Given the description of an element on the screen output the (x, y) to click on. 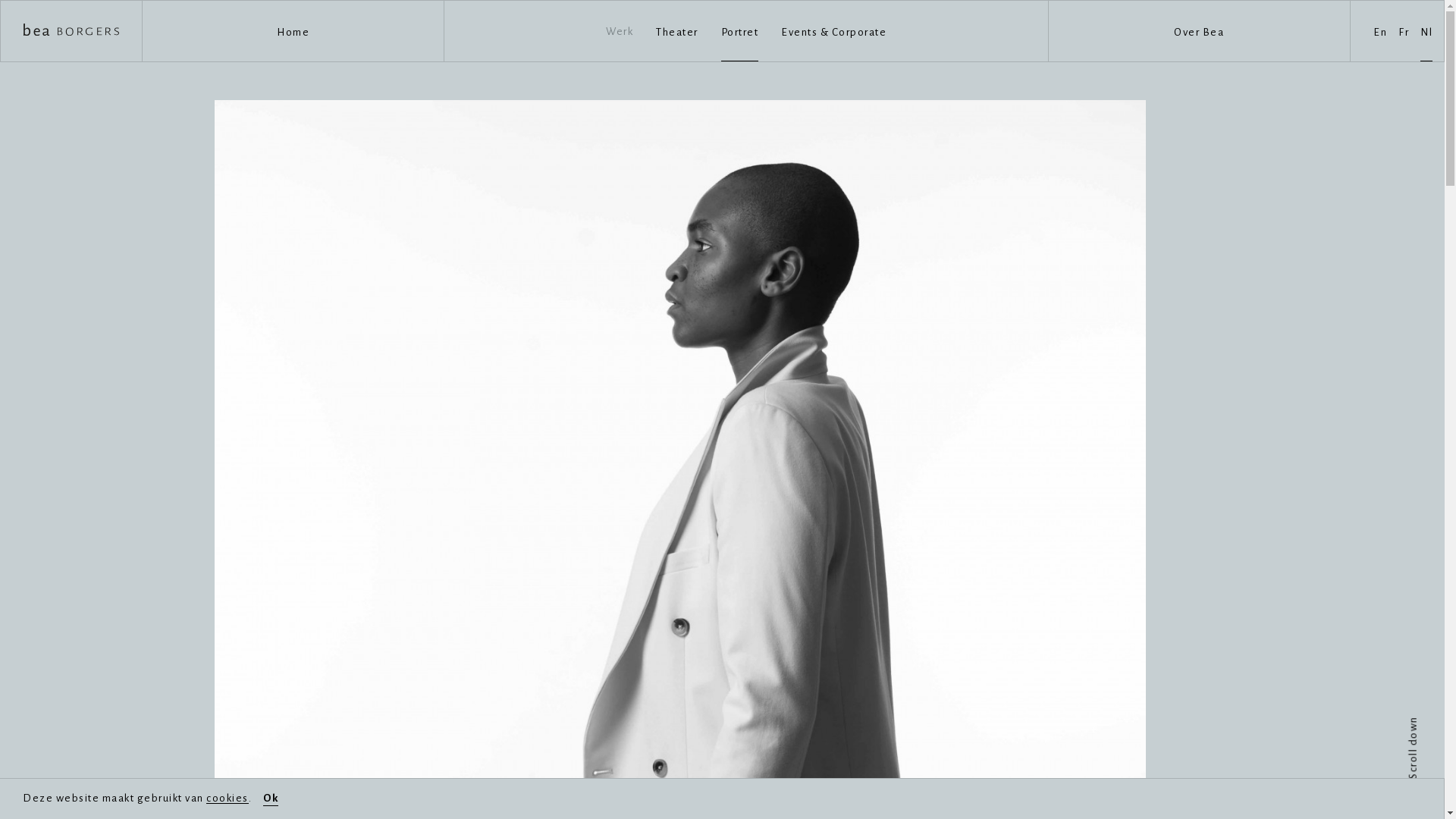
En Element type: text (1379, 30)
Fr Element type: text (1403, 30)
Portret Element type: text (739, 30)
cookies Element type: text (227, 797)
Nl Element type: text (1426, 30)
Ok Element type: text (270, 798)
Theater Element type: text (676, 30)
Home Element type: text (292, 30)
Events & Corporate Element type: text (833, 30)
Werk Element type: text (619, 30)
Over Bea Element type: text (1198, 30)
